Given the description of an element on the screen output the (x, y) to click on. 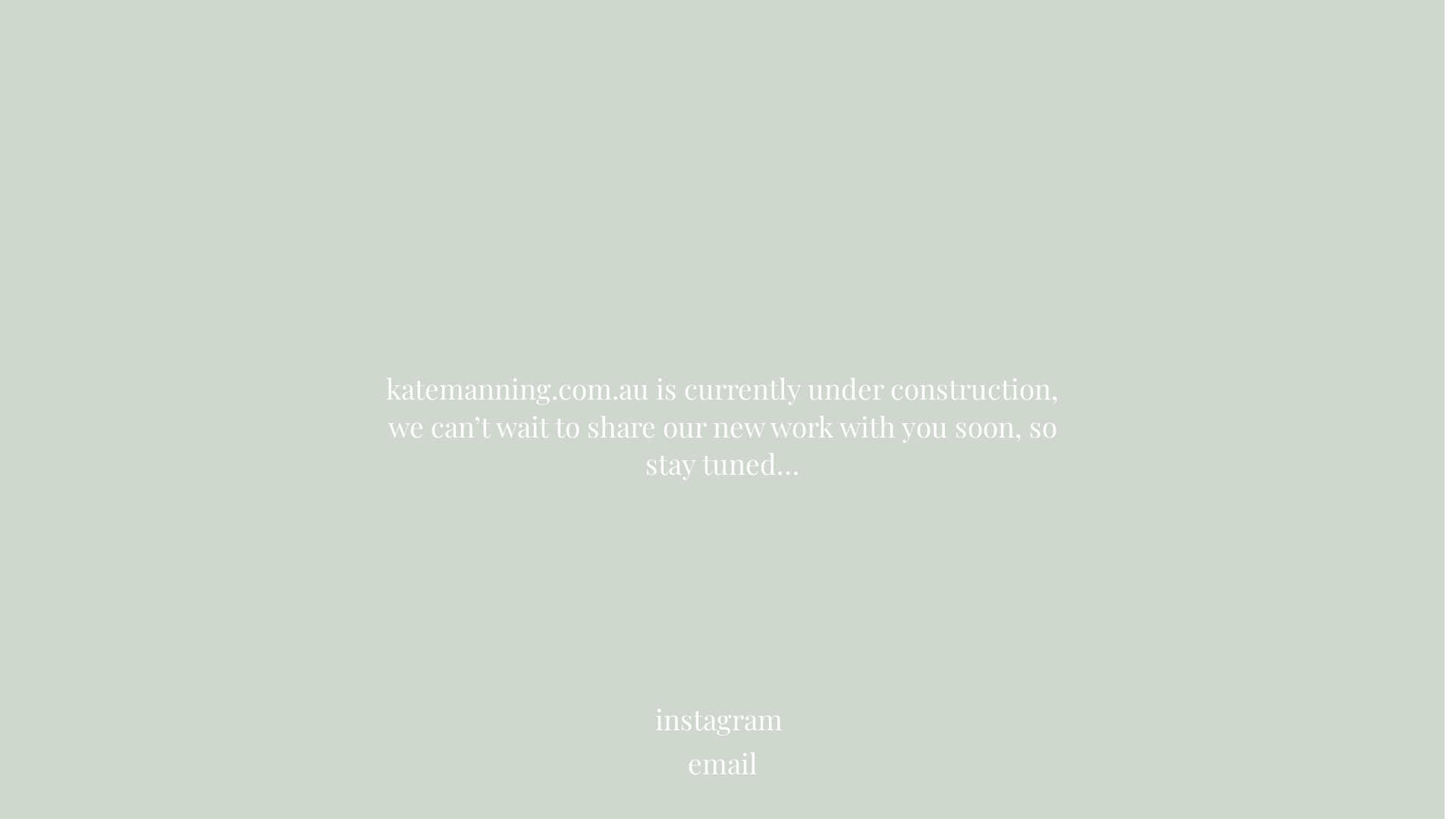
email Element type: text (721, 762)
instagram Element type: text (718, 718)
